Given the description of an element on the screen output the (x, y) to click on. 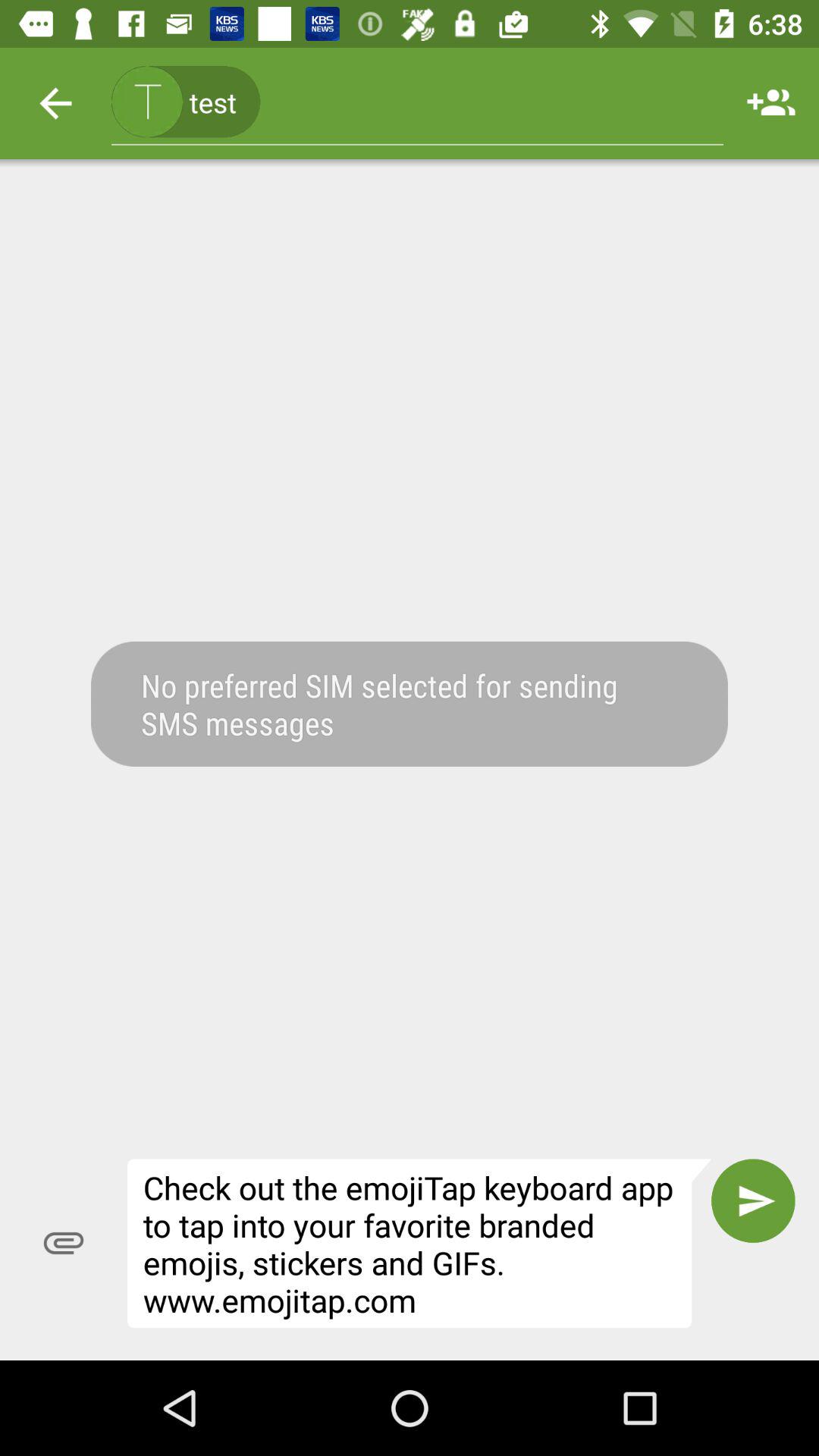
choose the icon to the left of the check out the (63, 1243)
